Given the description of an element on the screen output the (x, y) to click on. 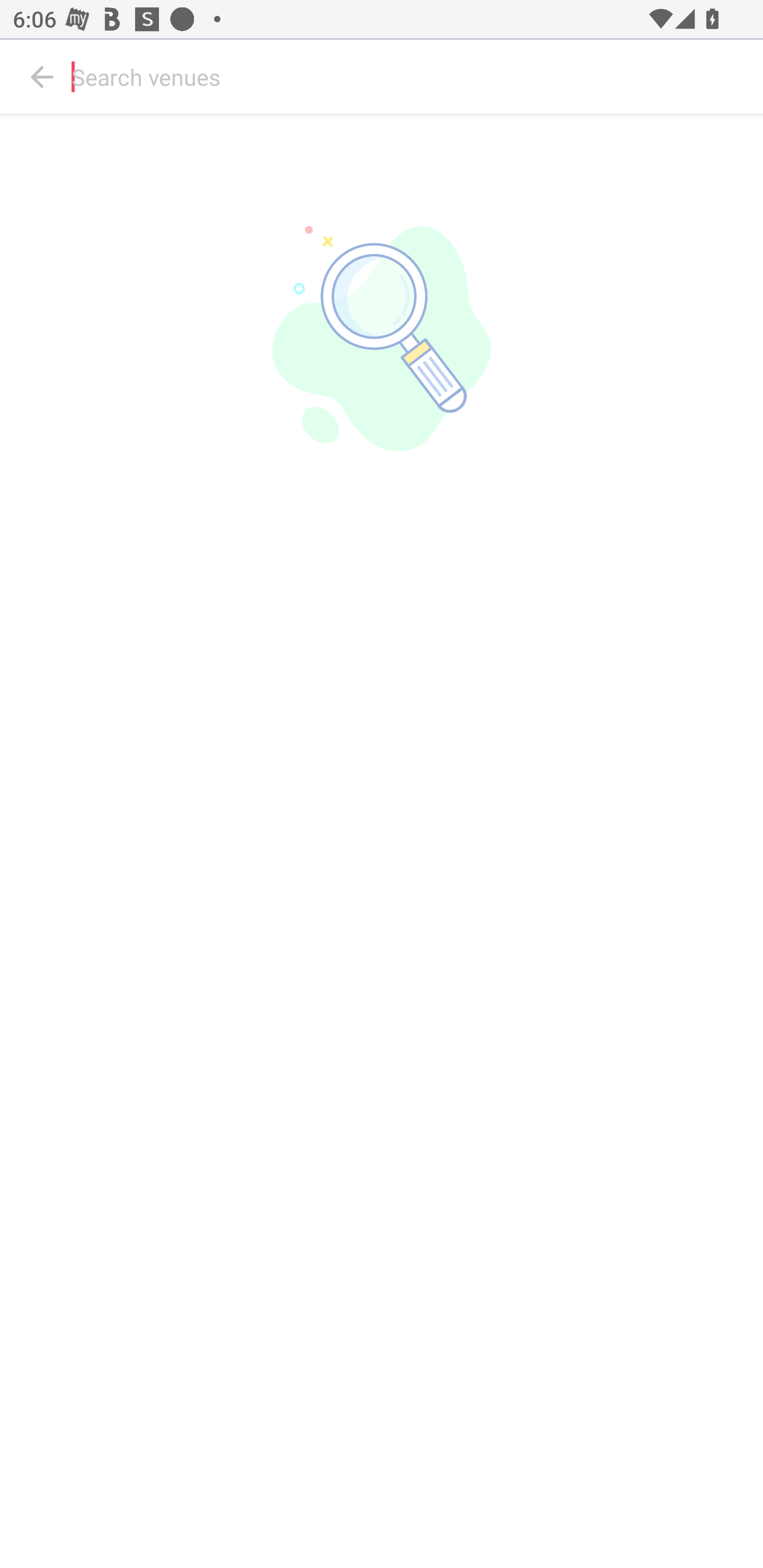
Back (42, 76)
Search venues (413, 76)
